Given the description of an element on the screen output the (x, y) to click on. 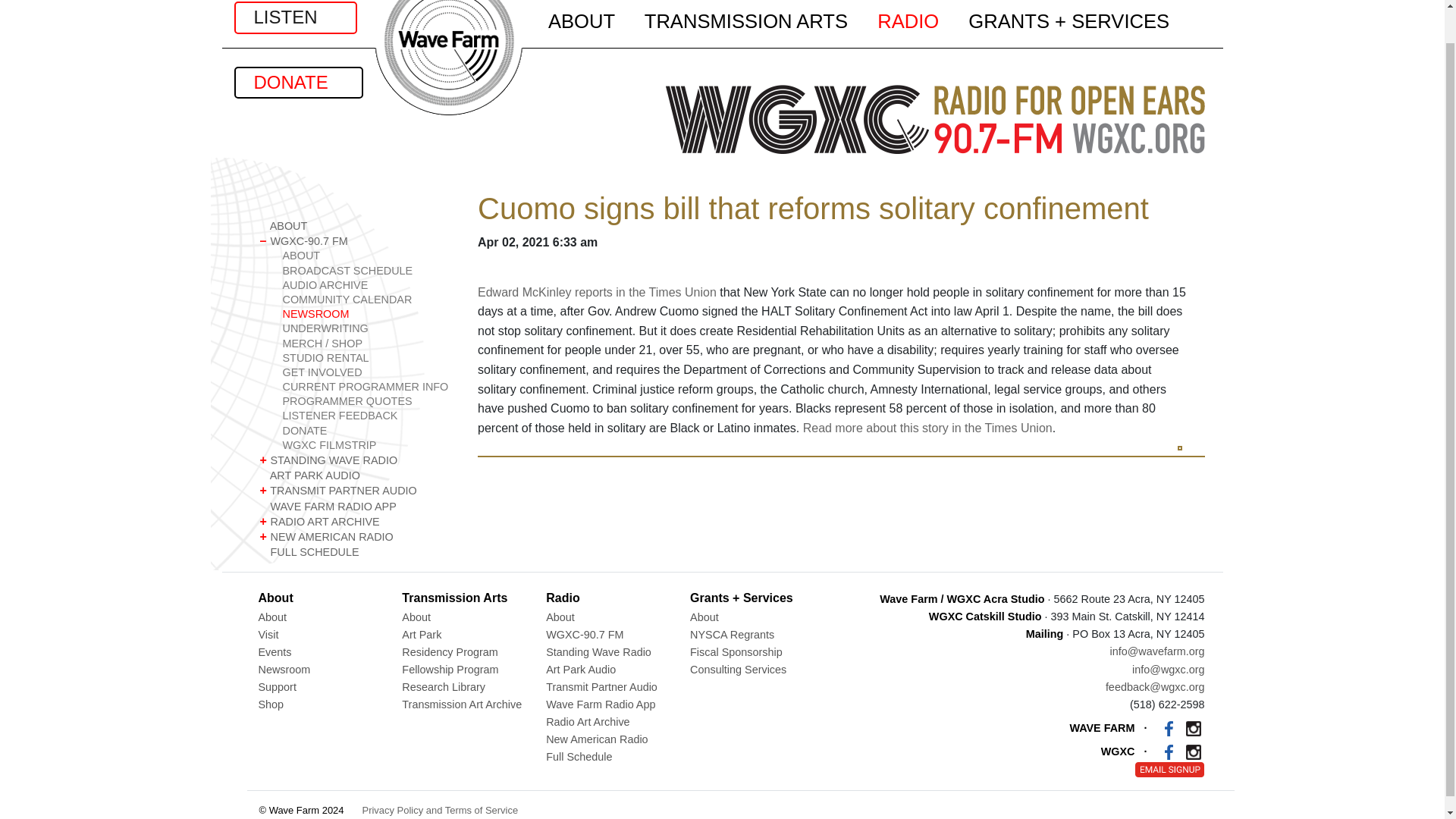
DONATE    (297, 82)
ABOUT (367, 255)
LISTEN     (294, 17)
  ABOUT (355, 225)
BROADCAST SCHEDULE (367, 270)
